Given the description of an element on the screen output the (x, y) to click on. 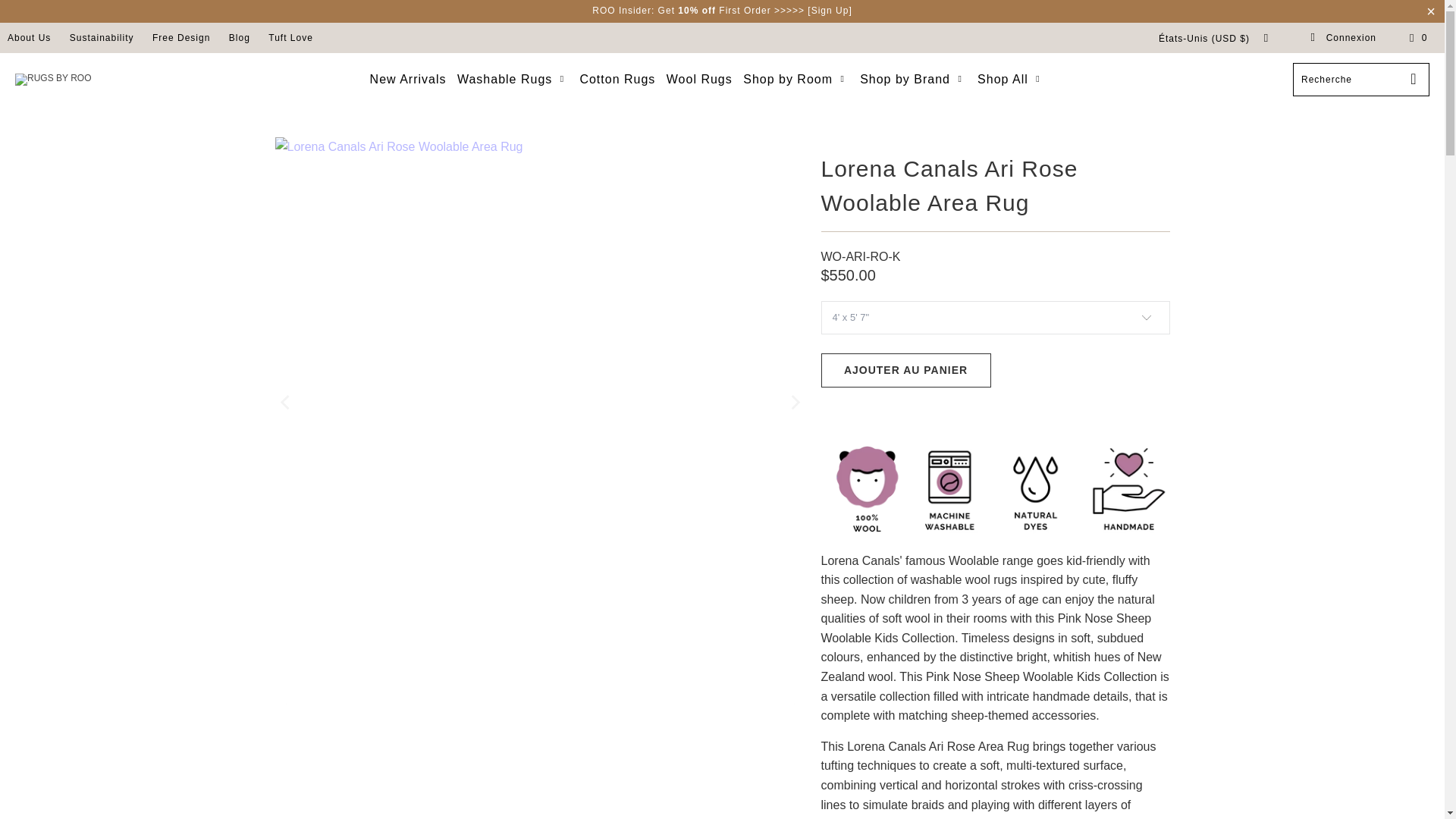
Rugs by Roo (52, 79)
Mon compte  (1343, 37)
